Given the description of an element on the screen output the (x, y) to click on. 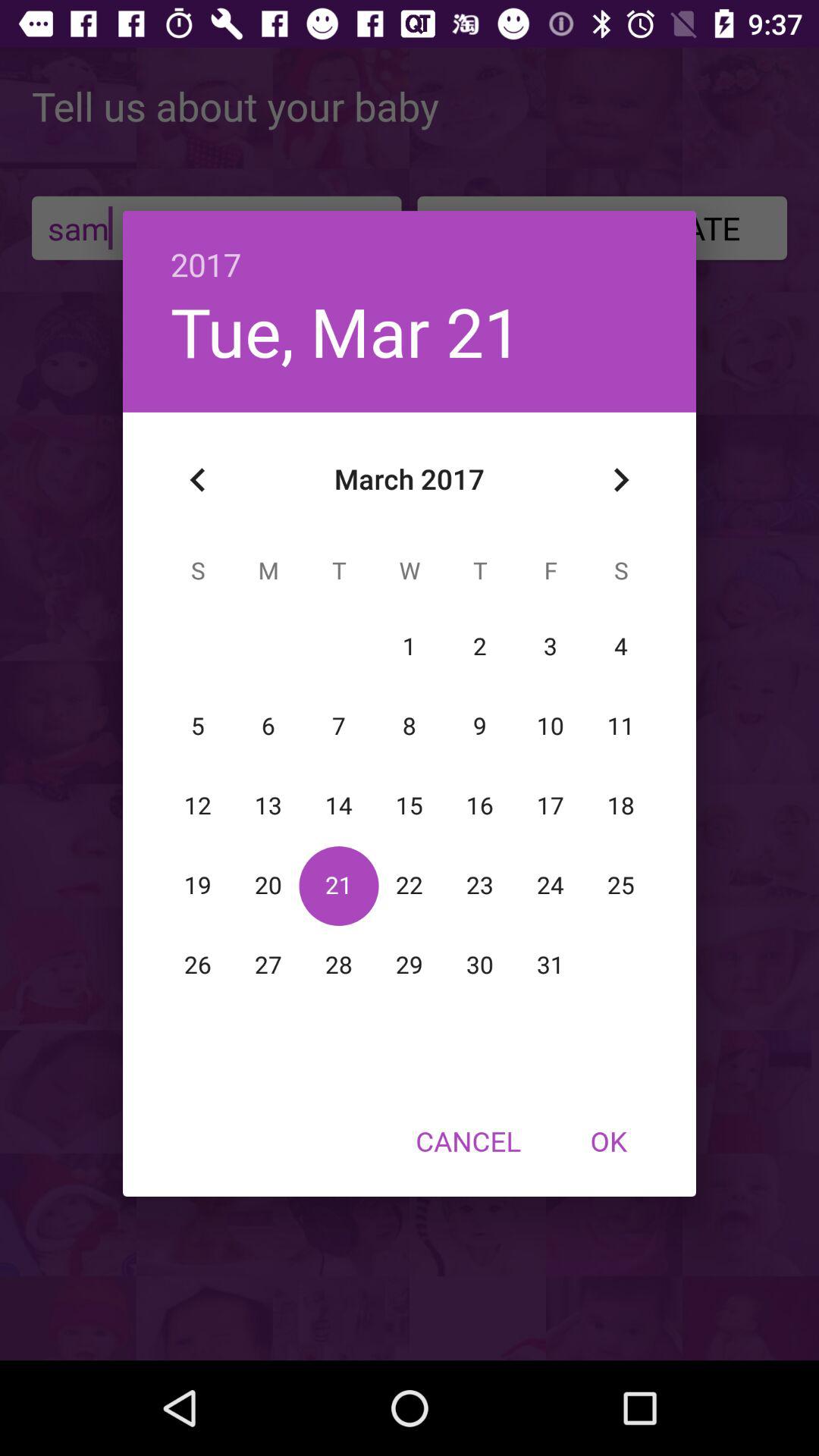
turn off the ok (608, 1140)
